Given the description of an element on the screen output the (x, y) to click on. 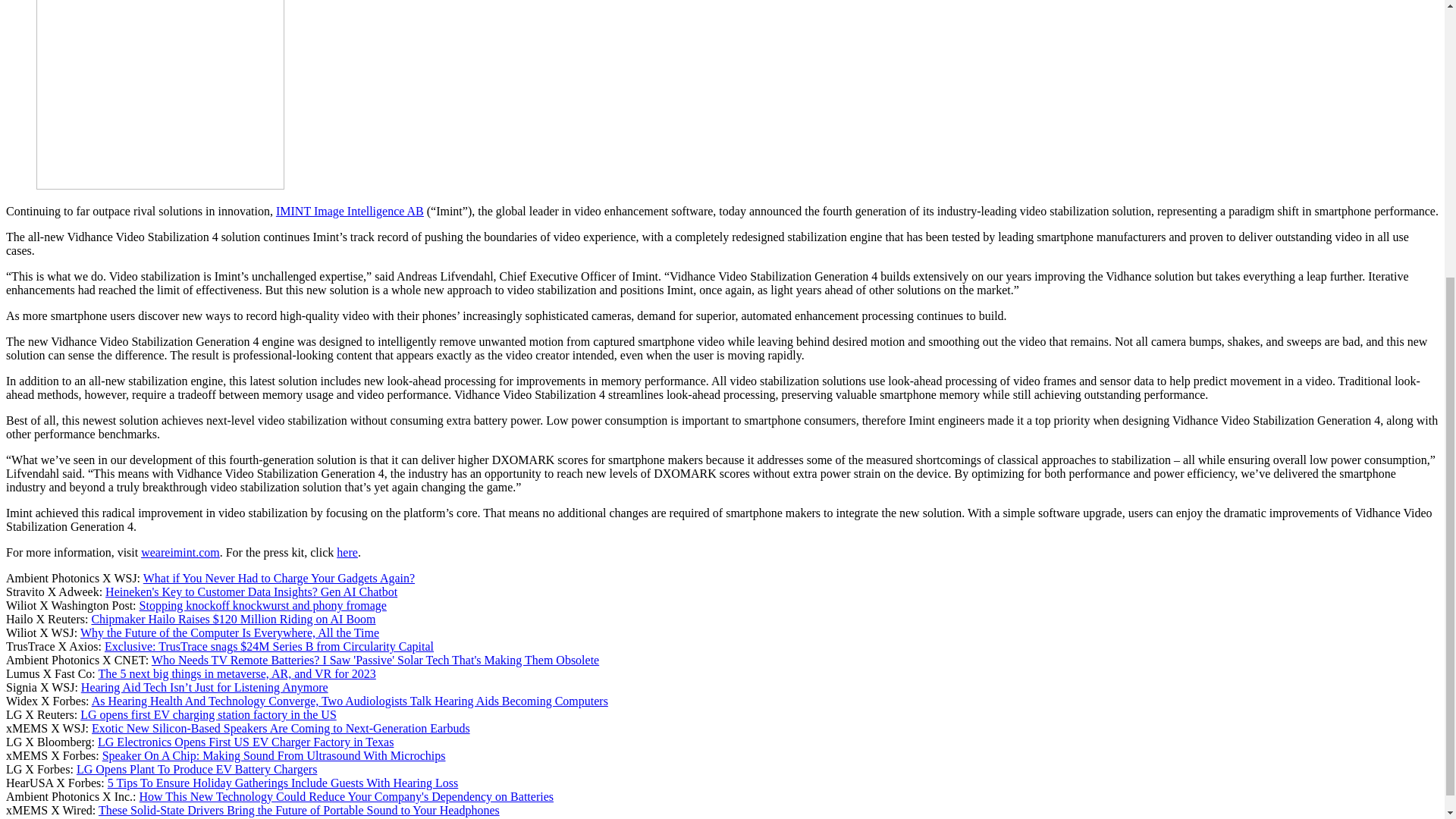
IMINT Image Intelligence AB (349, 210)
here (347, 552)
What if You Never Had to Charge Your Gadgets Again? (278, 577)
Stopping knockoff knockwurst and phony fromage (263, 604)
The 5 next big things in metaverse, AR, and VR for 2023 (237, 673)
LG opens first EV charging station factory in the US (208, 714)
LG Opens Plant To Produce EV Battery Chargers (197, 768)
Heineken's Key to Customer Data Insights? Gen AI Chatbot (250, 591)
weareimint.com (180, 552)
Why the Future of the Computer Is Everywhere, All the Time (229, 632)
